Given the description of an element on the screen output the (x, y) to click on. 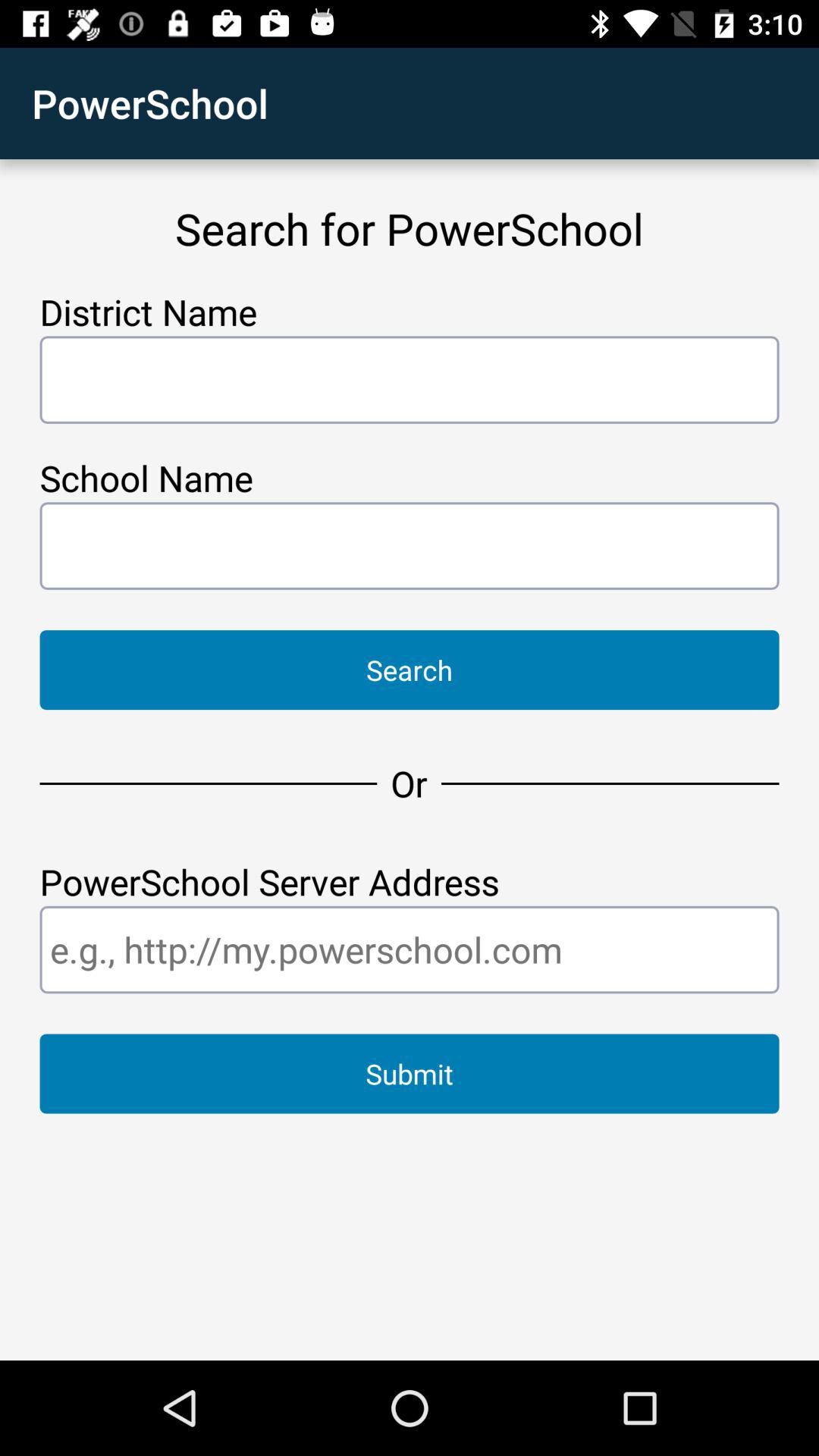
type the address for the powerschool server (409, 949)
